Given the description of an element on the screen output the (x, y) to click on. 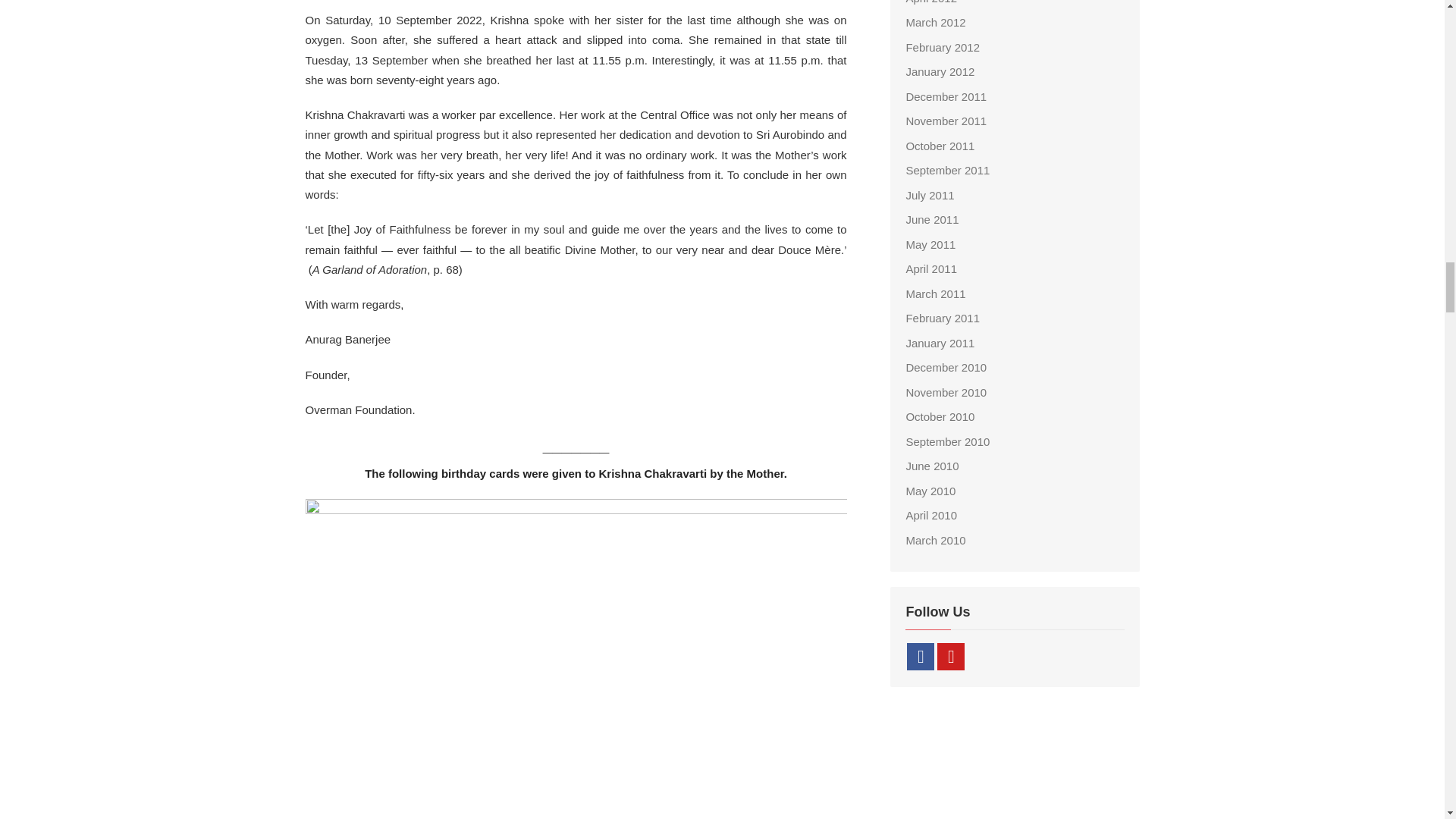
Facebook (920, 656)
YouTube (950, 656)
